Given the description of an element on the screen output the (x, y) to click on. 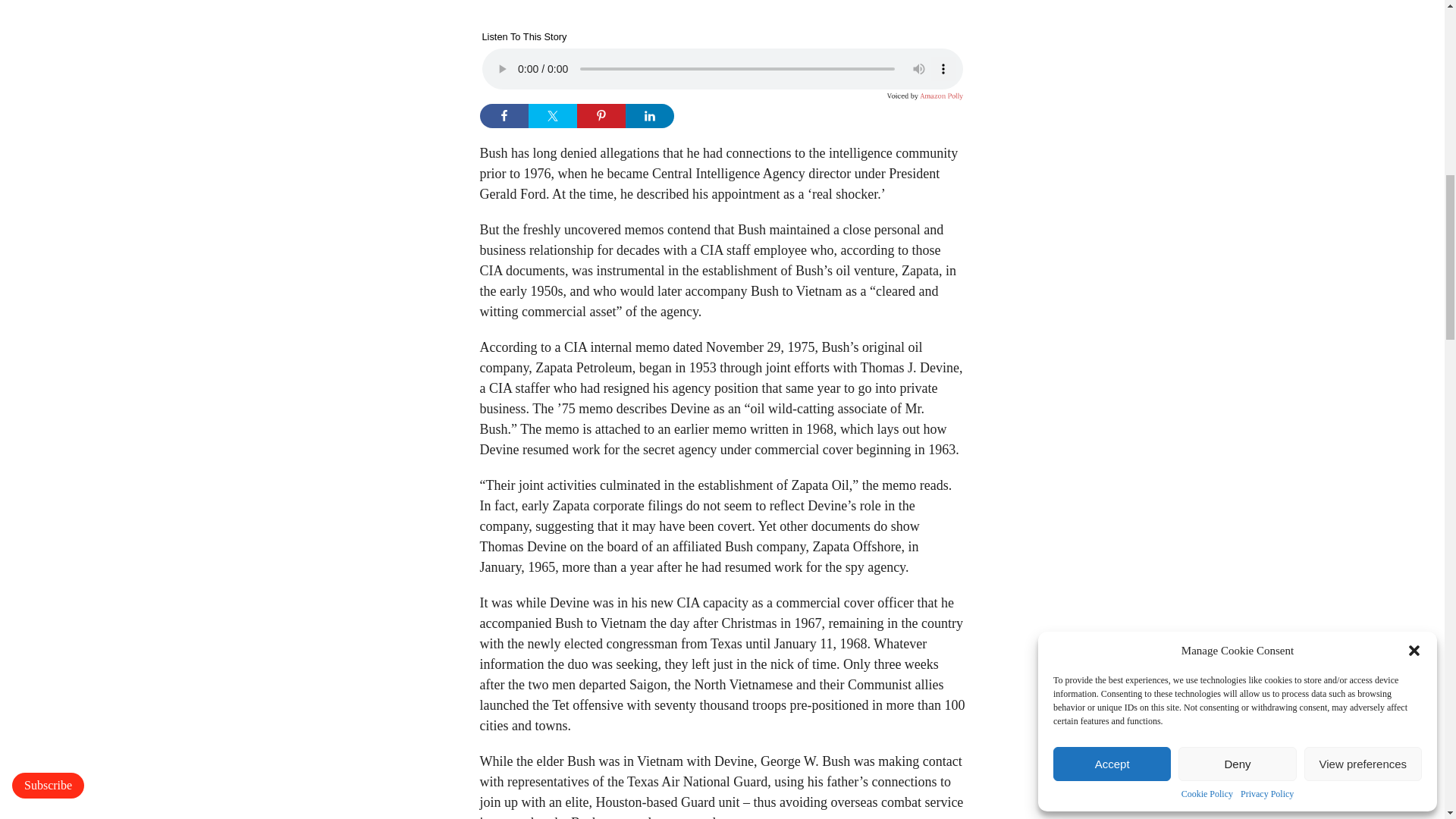
Share on LinkedIn (648, 115)
Share on Pinterest (600, 115)
Share on Twitter (551, 115)
Share on Facebook (503, 115)
